Given the description of an element on the screen output the (x, y) to click on. 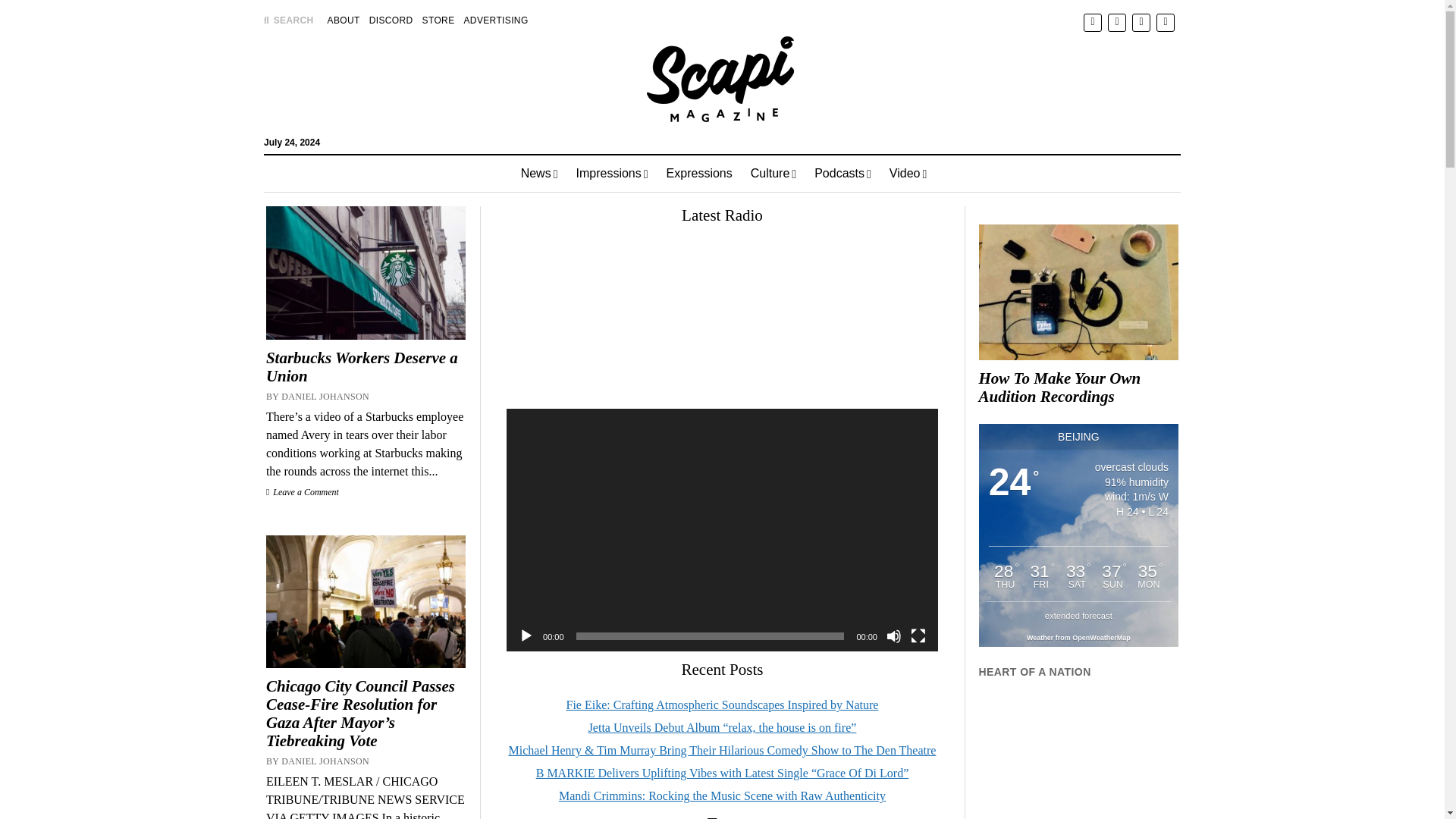
DISCORD (391, 20)
News (539, 173)
Play (526, 635)
ADVERTISING (496, 20)
Culture (773, 173)
Mute (893, 635)
Expressions (699, 173)
STORE (438, 20)
Search (945, 129)
Podcasts (842, 173)
SEARCH (288, 20)
Impressions (612, 173)
ABOUT (343, 20)
Fullscreen (918, 635)
